Given the description of an element on the screen output the (x, y) to click on. 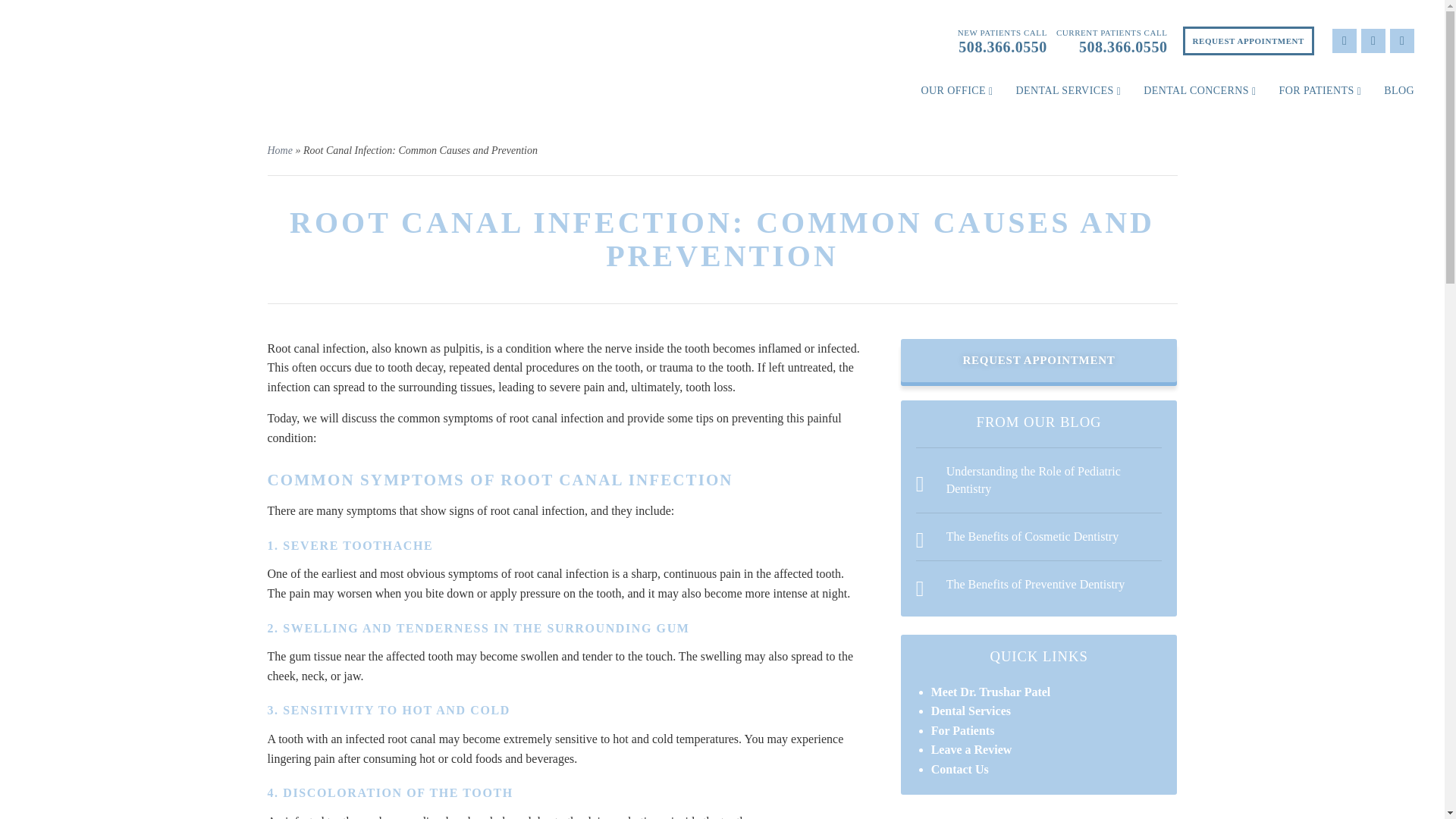
DENTAL CONCERNS (1198, 90)
OUR OFFICE (956, 90)
DENTAL SERVICES (1068, 90)
FOR PATIENTS (1320, 90)
REQUEST APPOINTMENT (1248, 40)
